Given the description of an element on the screen output the (x, y) to click on. 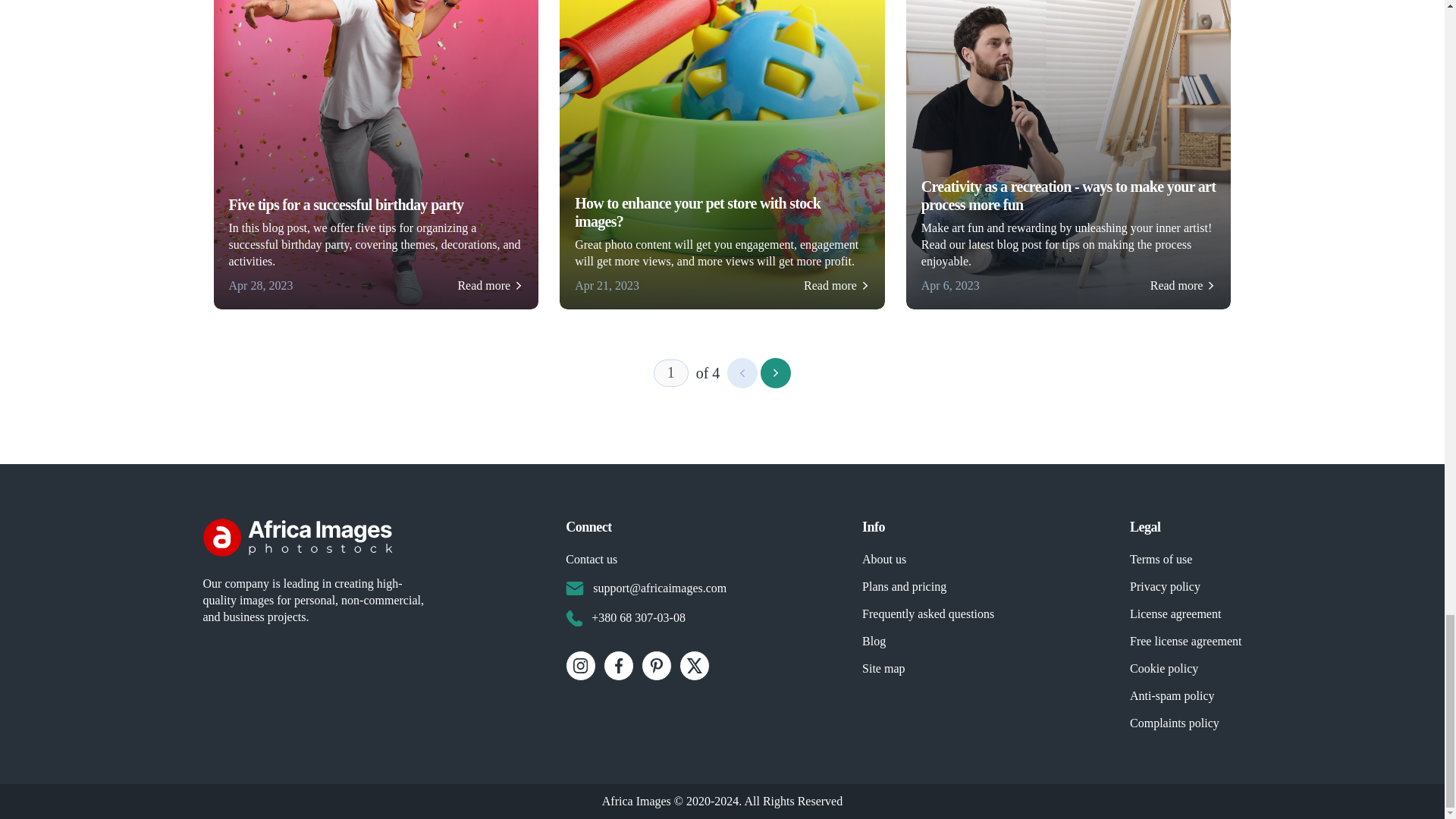
Contact us (591, 558)
1 (670, 372)
